Given the description of an element on the screen output the (x, y) to click on. 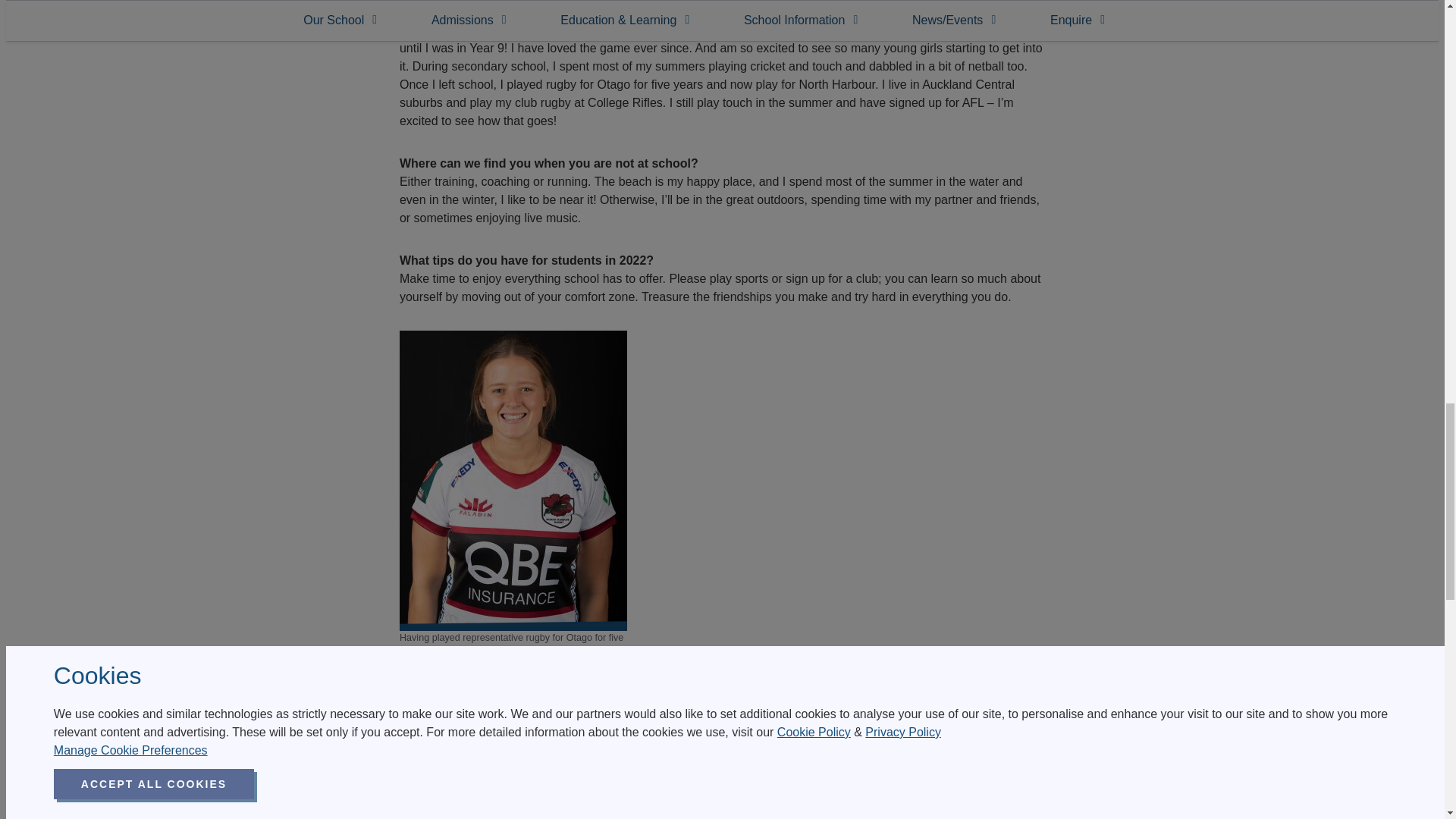
ACG Strathallan Musicians Shine at Tauranga Jazzfest (365, 816)
Strathallan Students (841, 816)
